Given the description of an element on the screen output the (x, y) to click on. 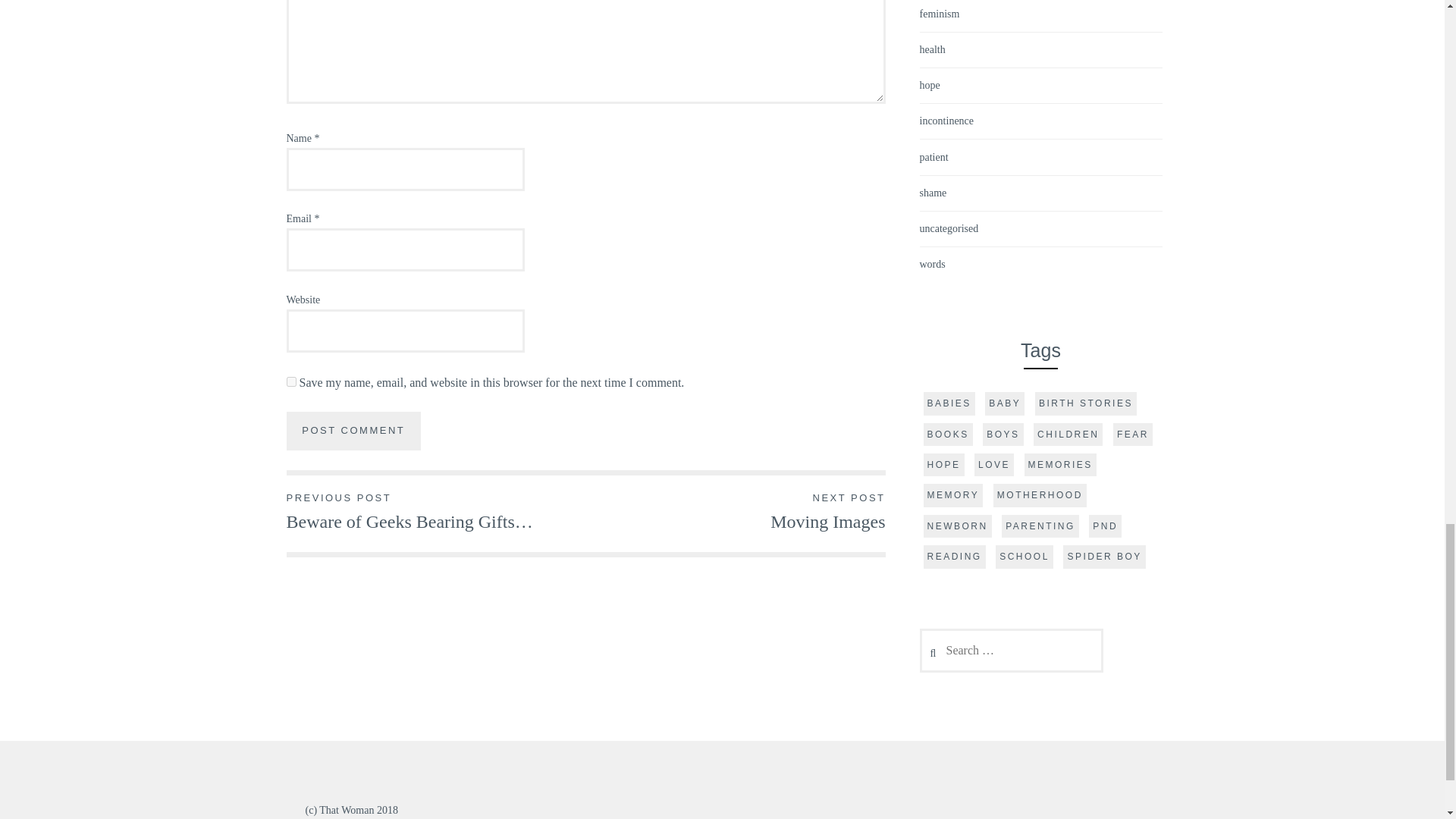
Post Comment (354, 430)
Post Comment (354, 430)
yes (735, 511)
